Given the description of an element on the screen output the (x, y) to click on. 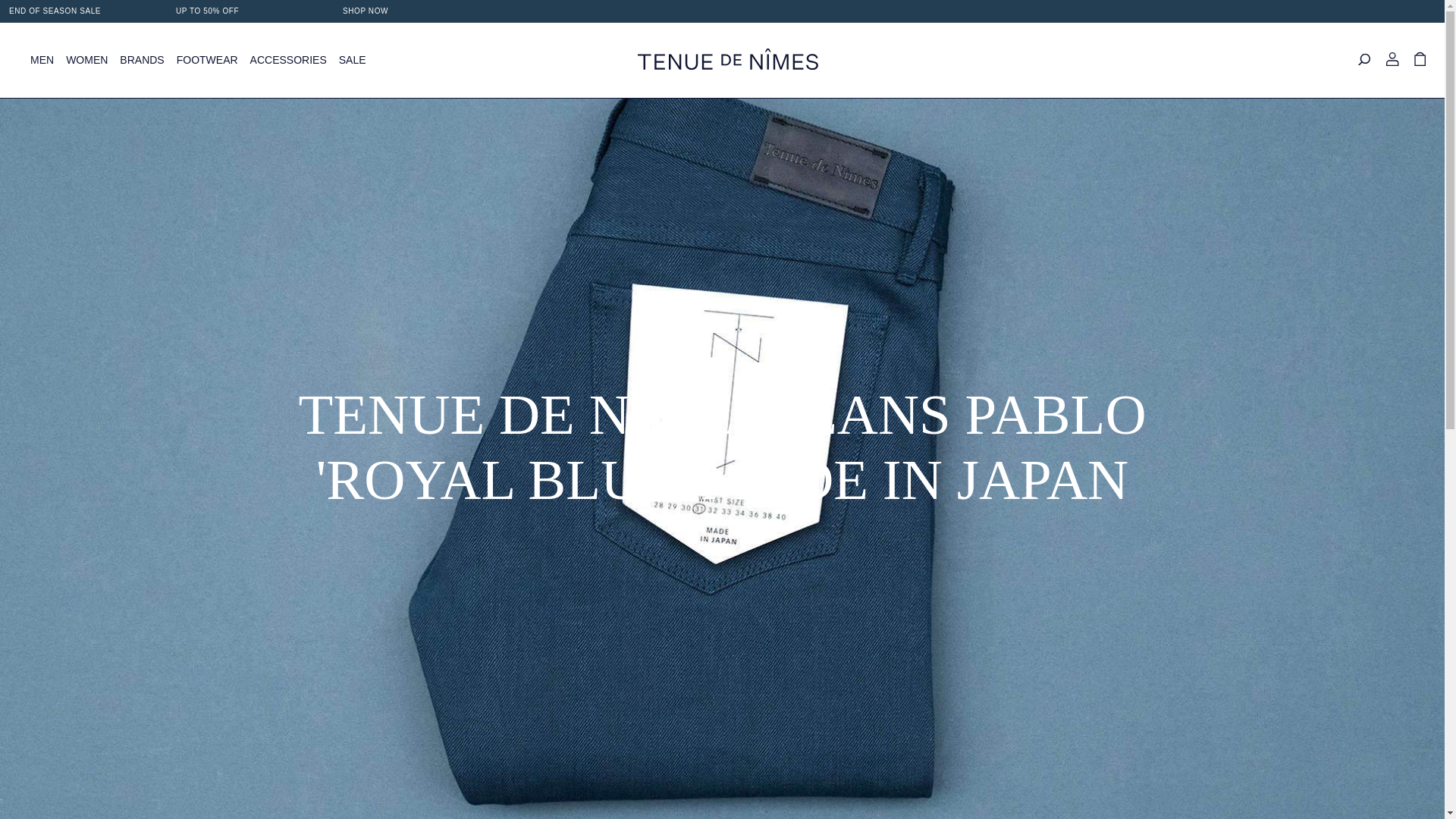
WOMEN (86, 60)
SALE (352, 60)
ACCESSORIES (288, 60)
FOOTWEAR (207, 60)
MEN (41, 60)
BRANDS (141, 60)
